Given the description of an element on the screen output the (x, y) to click on. 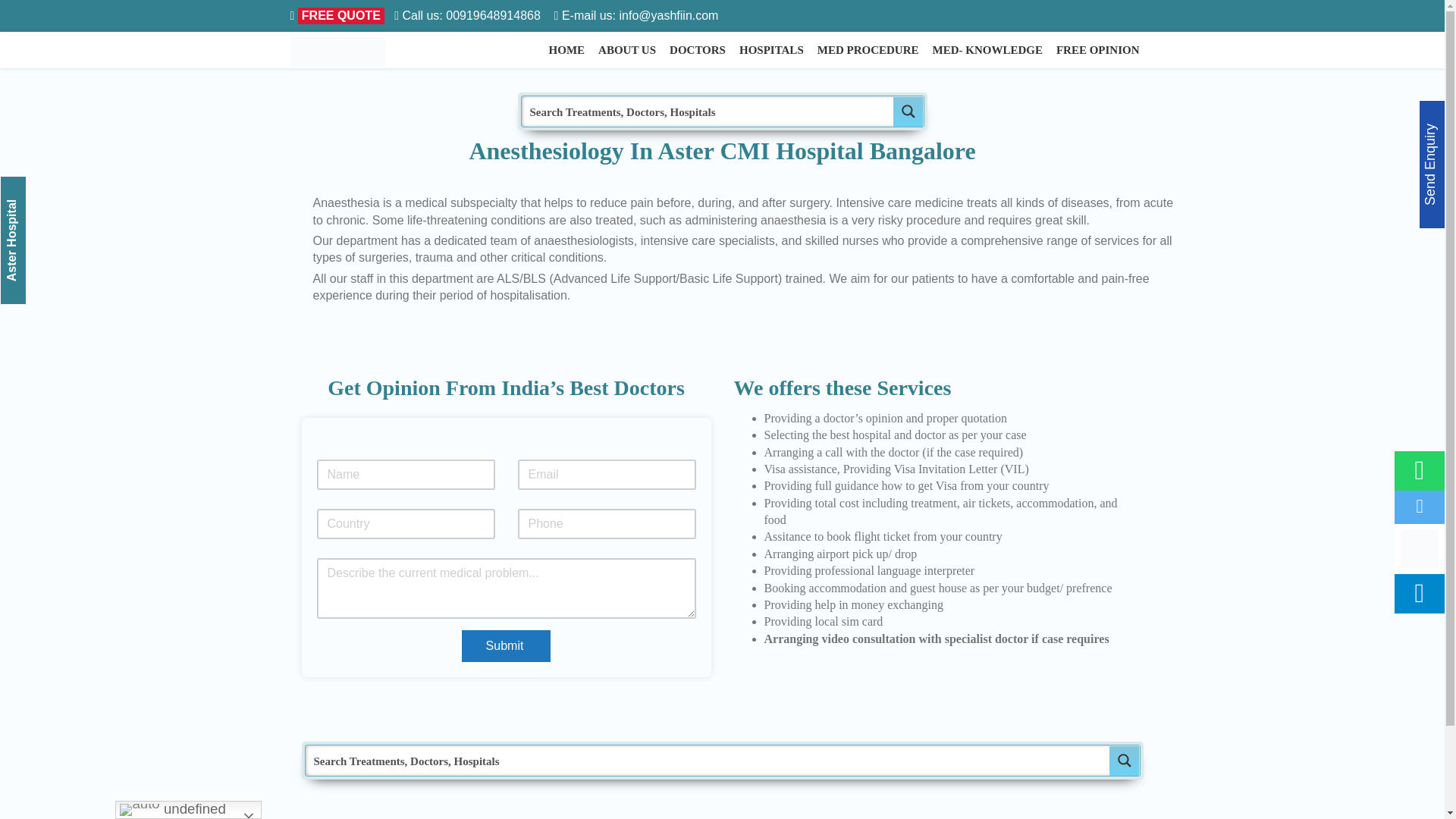
X (1410, 64)
MED PROCEDURE (867, 50)
HOME (566, 50)
Med Procedure (1277, 145)
Hospitals (1262, 123)
MED- KNOWLEDGE (986, 50)
DOCTORS (697, 50)
undefined (188, 809)
ABOUT US (627, 50)
About Us (1263, 80)
